Given the description of an element on the screen output the (x, y) to click on. 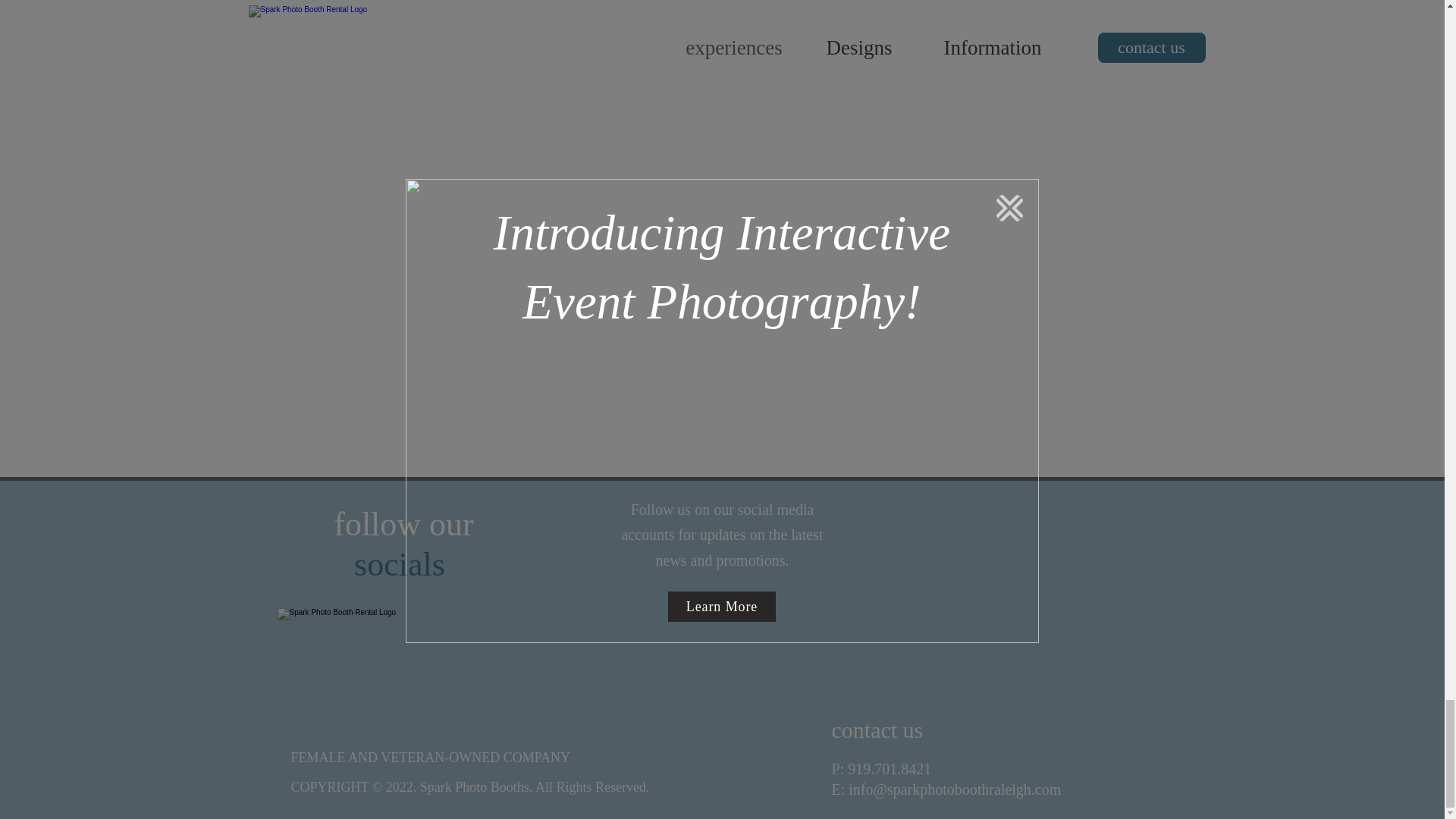
spark-photobooth-primary-logo-white-rgb- (404, 665)
